Given the description of an element on the screen output the (x, y) to click on. 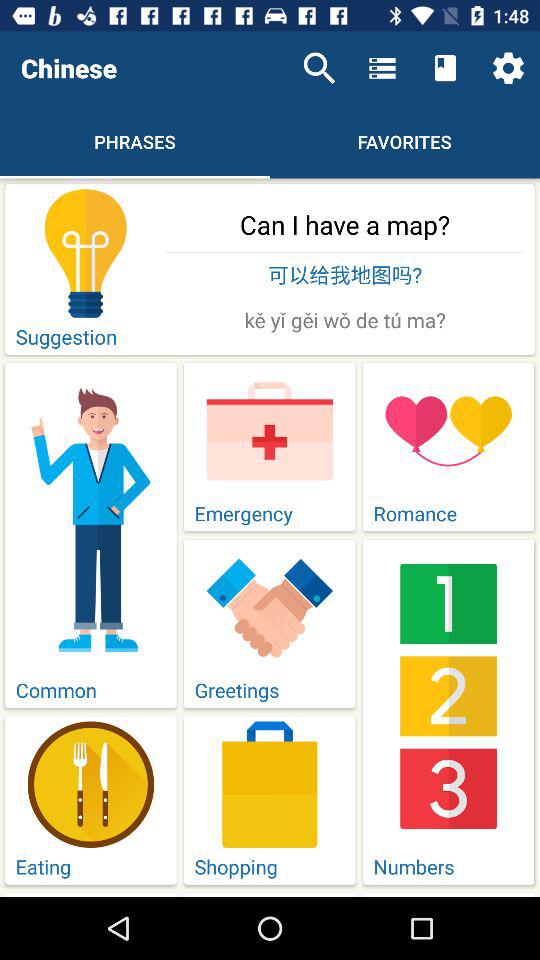
click the icon above the favorites (381, 67)
